Given the description of an element on the screen output the (x, y) to click on. 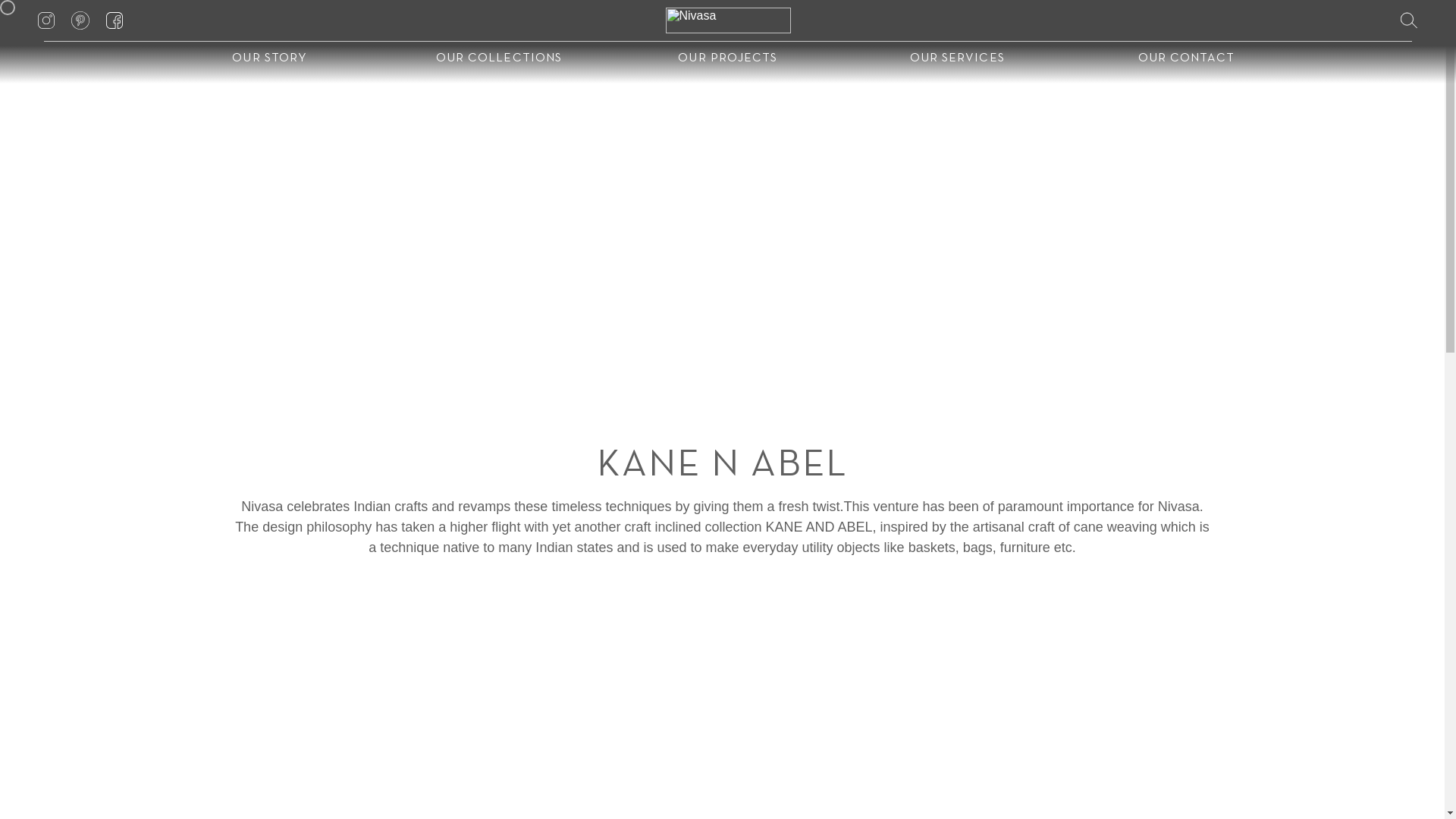
OUR PROJECTS (727, 58)
Nivasa on YouTube (822, 778)
Instagram (225, 778)
Nivasa on Facebook (423, 778)
Houzz (1219, 778)
OUR COLLECTIONS (498, 58)
OUR SERVICES (1244, 670)
YouTube (822, 778)
Nivasa on Pinterest (1020, 778)
Facebook (423, 778)
Linkedin (623, 778)
OUR STORY (269, 58)
Nivasa on Linkedin (623, 778)
OUR CONTACT (1185, 58)
Nivasa on Houzz (1219, 778)
